Given the description of an element on the screen output the (x, y) to click on. 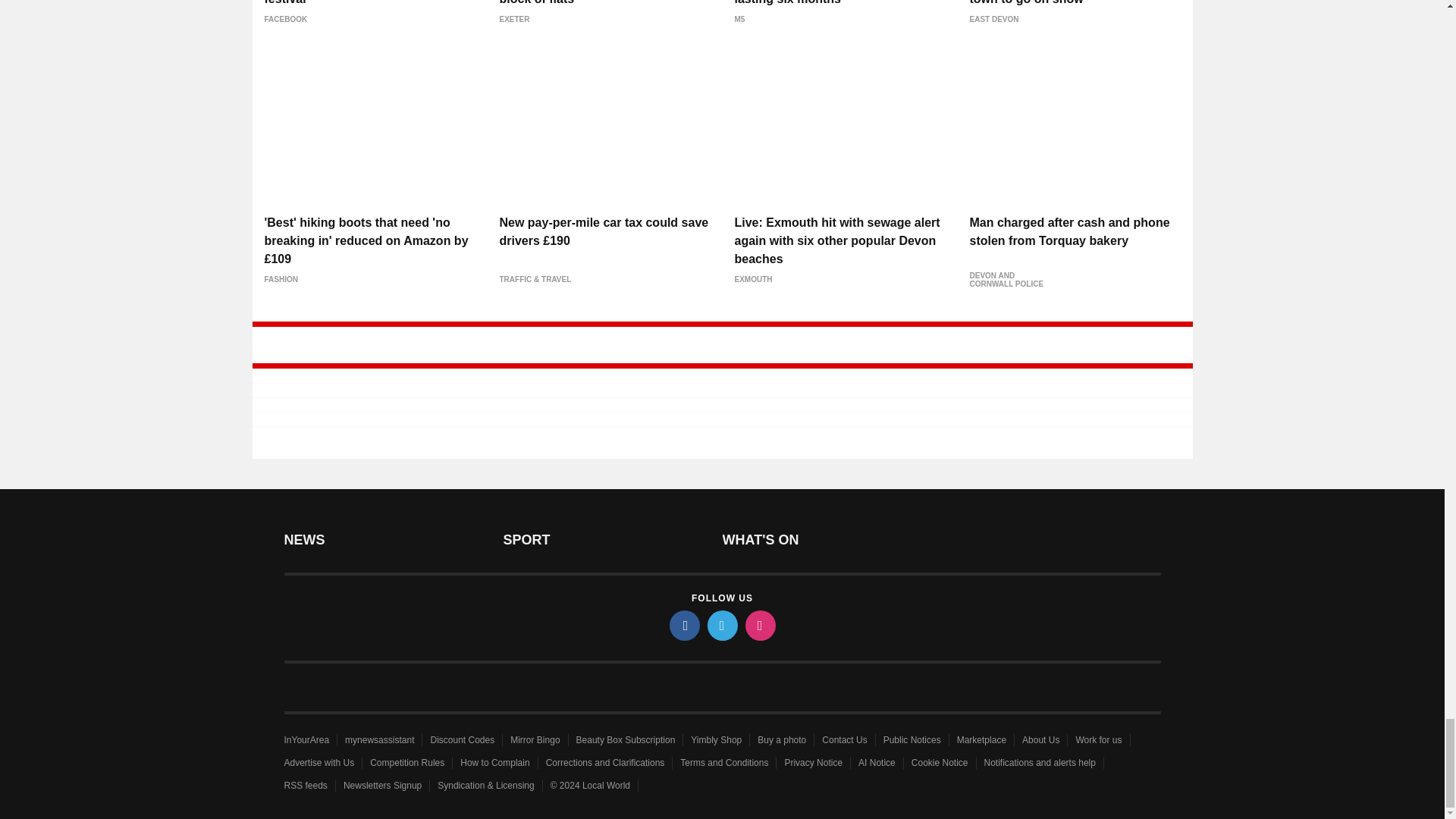
instagram (759, 625)
twitter (721, 625)
facebook (683, 625)
